Given the description of an element on the screen output the (x, y) to click on. 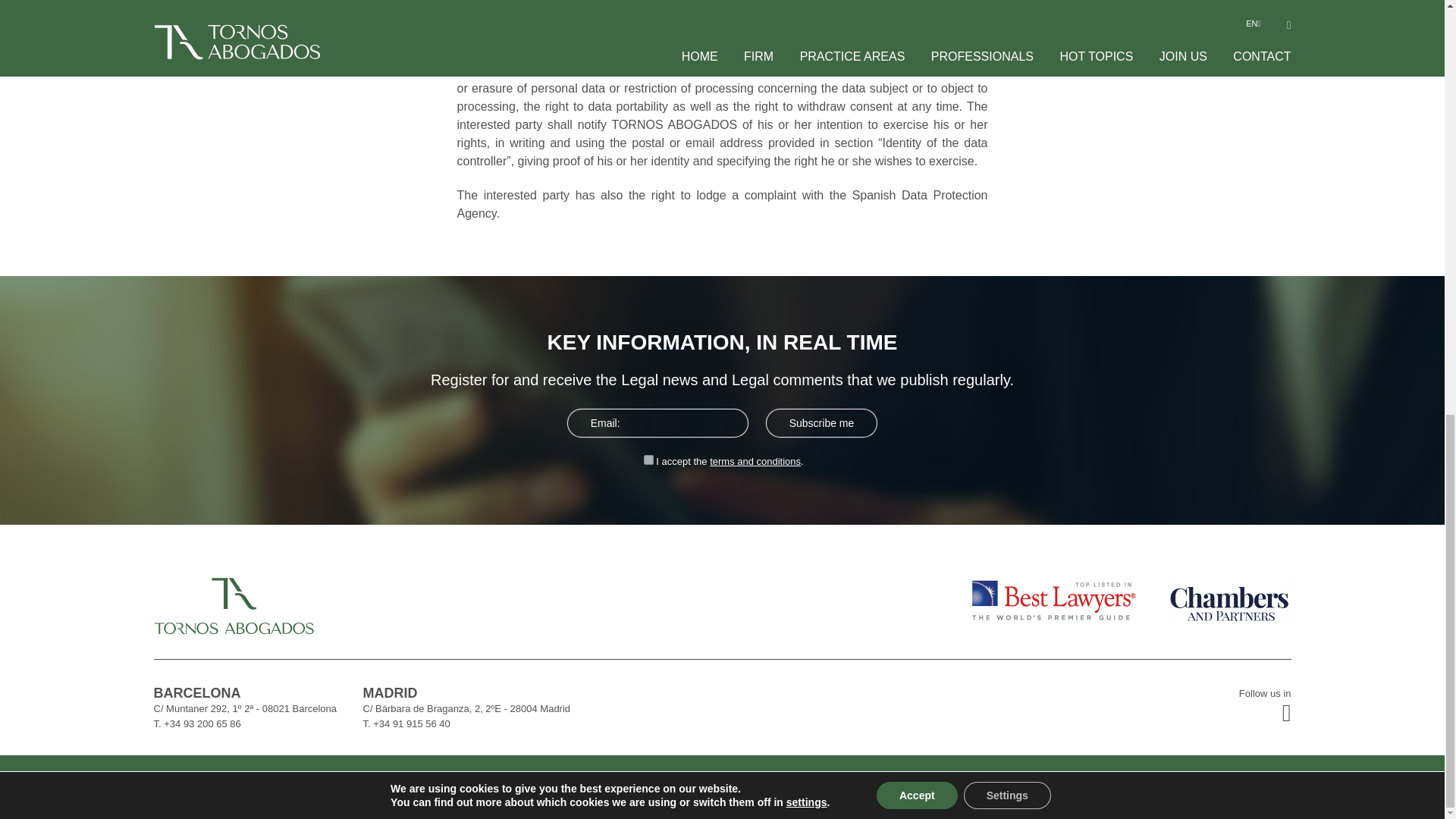
1 (648, 460)
Cookies policy (1244, 790)
Legal note (1307, 790)
terms and conditions (755, 460)
Subscribe me (822, 422)
Carles Reverter (333, 787)
Subscribe me (822, 422)
